Given the description of an element on the screen output the (x, y) to click on. 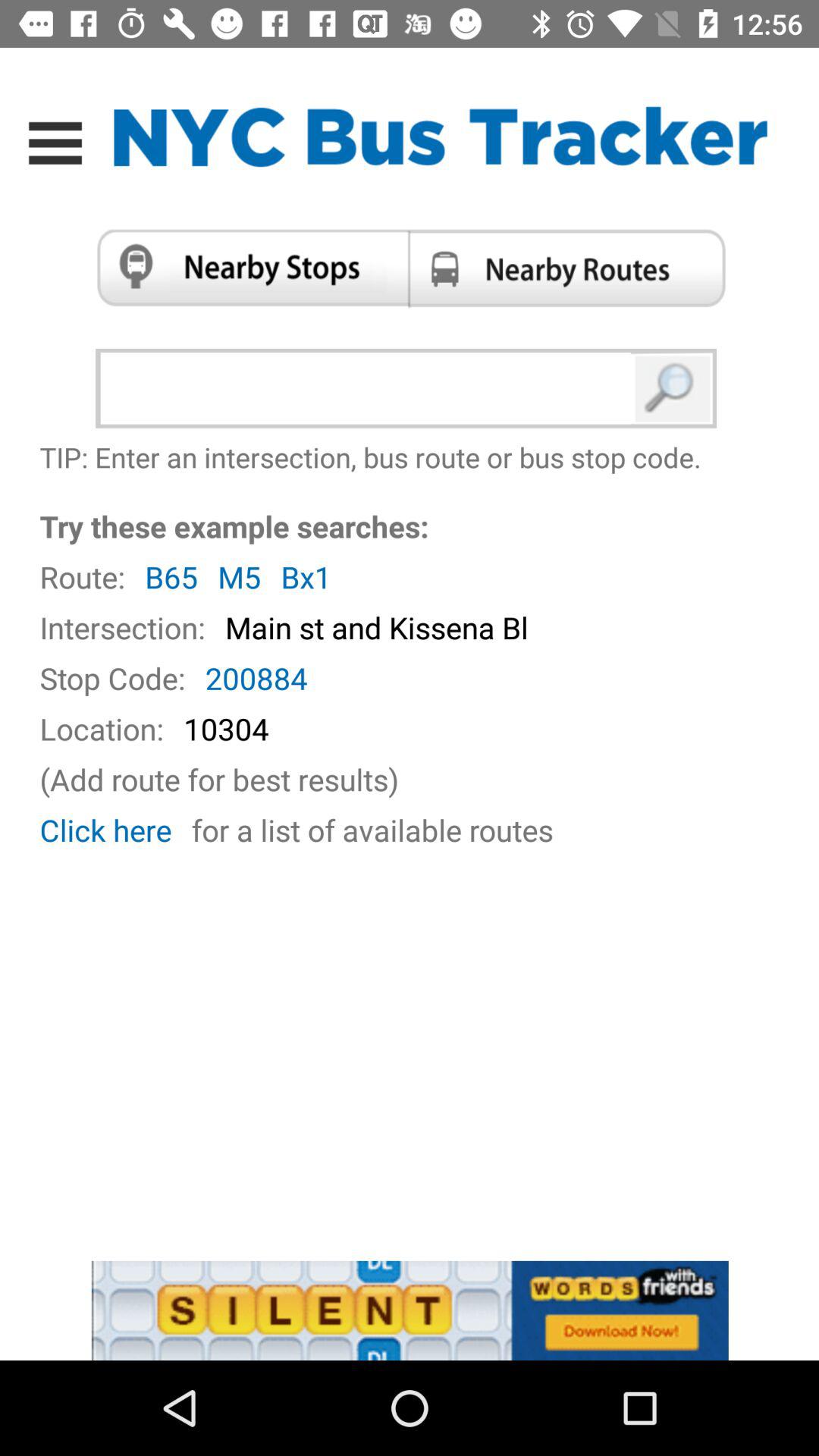
advertisement (409, 1310)
